Given the description of an element on the screen output the (x, y) to click on. 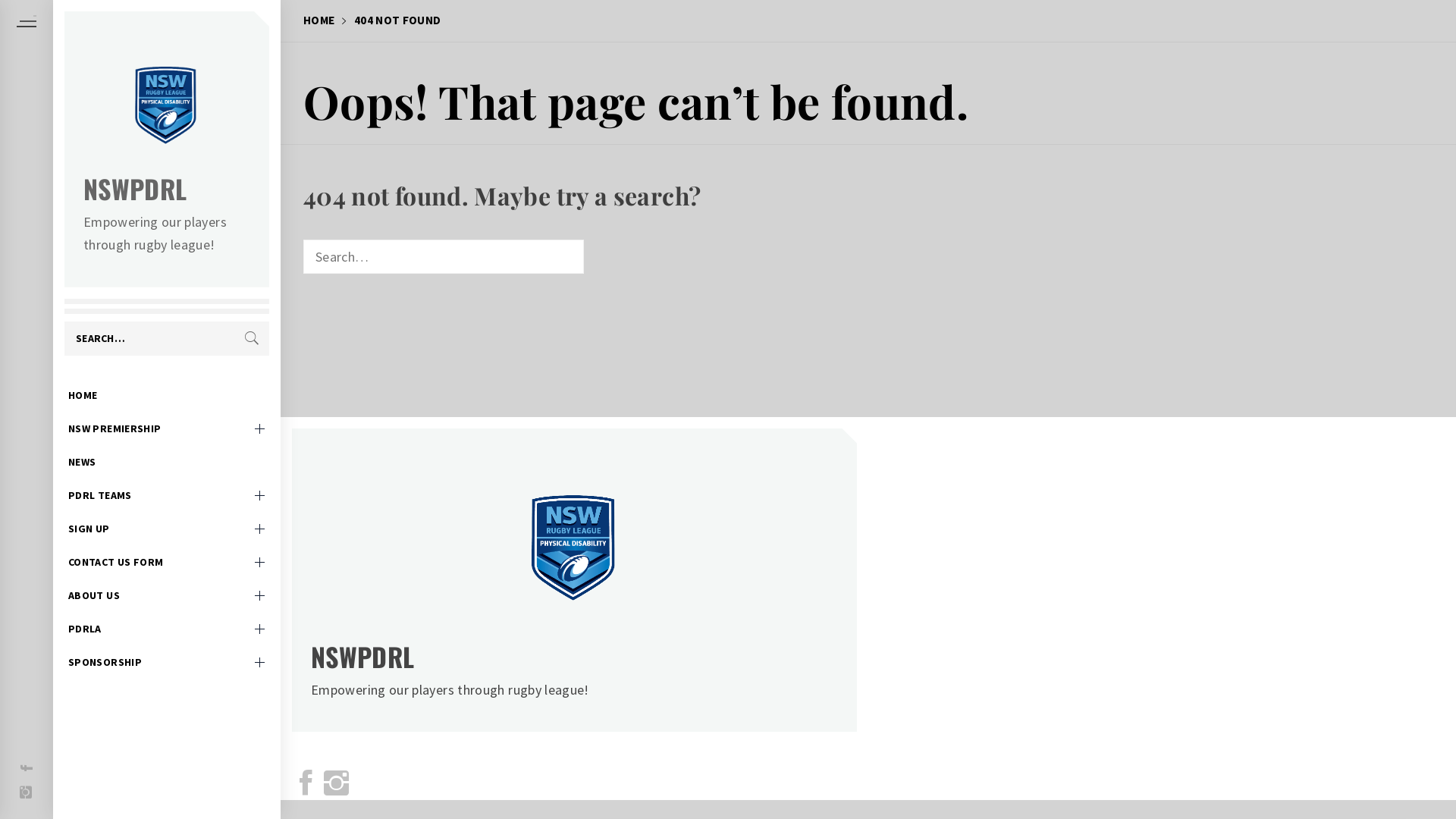
CONTACT US FORM Element type: text (166, 561)
NSW PREMIERSHIP Element type: text (166, 428)
NSWPDRL Element type: text (362, 656)
NSWPDRL Element type: text (135, 188)
PDRL TEAMS Element type: text (166, 494)
ABOUT US Element type: text (166, 594)
HOME Element type: text (318, 19)
SIGN UP Element type: text (166, 528)
PDRLA Element type: text (166, 628)
NEWS Element type: text (166, 461)
SPONSORSHIP Element type: text (166, 661)
HOME Element type: text (166, 394)
404 NOT FOUND Element type: text (391, 19)
